Given the description of an element on the screen output the (x, y) to click on. 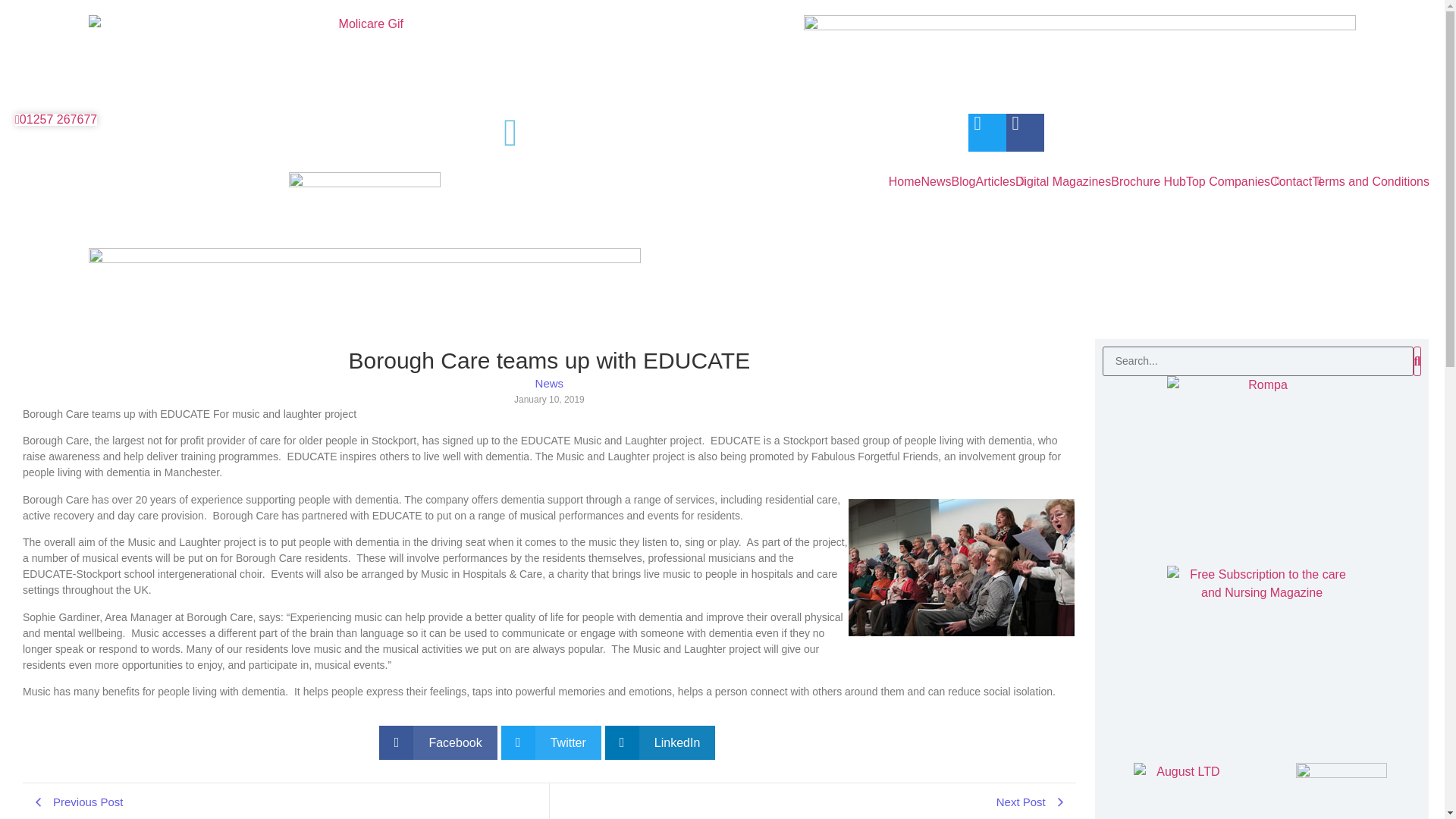
Blog (962, 181)
Digital Magazines (1062, 181)
Search (1257, 360)
Home (904, 181)
Articles (994, 181)
Brochure Hub (1148, 181)
News (935, 181)
01257 267677 (55, 119)
